Given the description of an element on the screen output the (x, y) to click on. 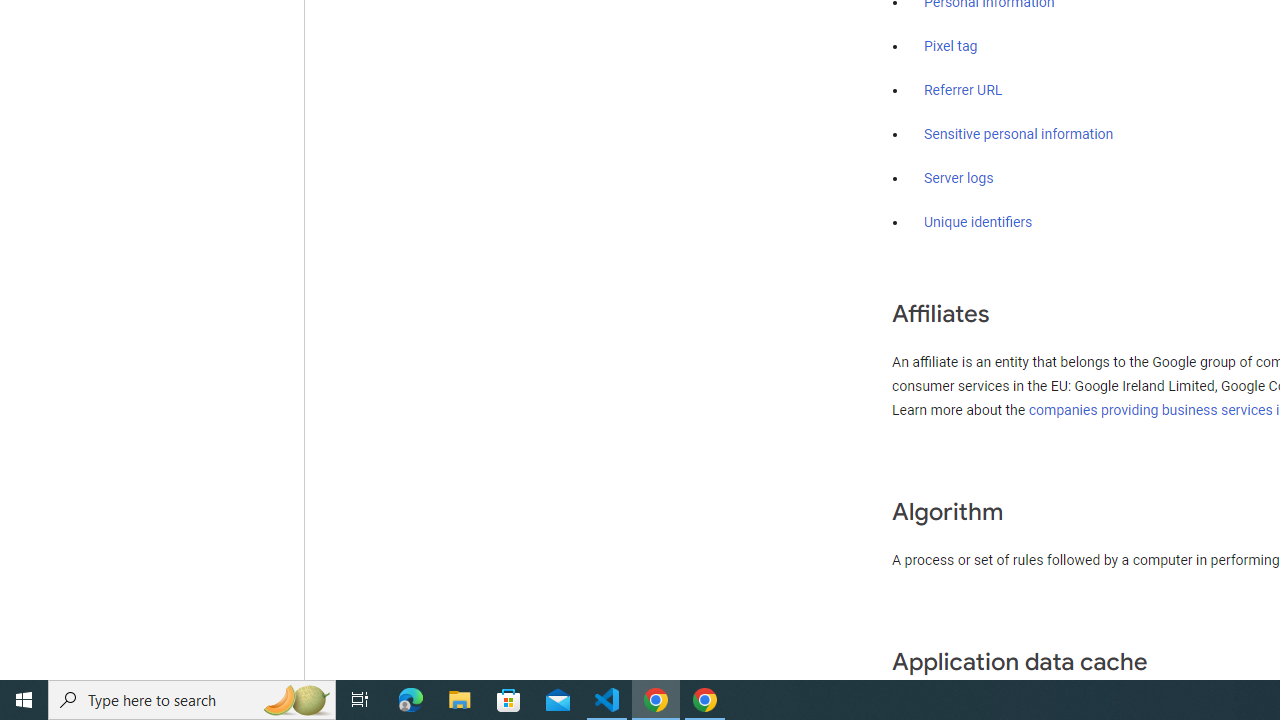
Pixel tag (950, 47)
Unique identifiers (978, 222)
Referrer URL (963, 91)
Server logs (959, 178)
Sensitive personal information (1018, 134)
